Given the description of an element on the screen output the (x, y) to click on. 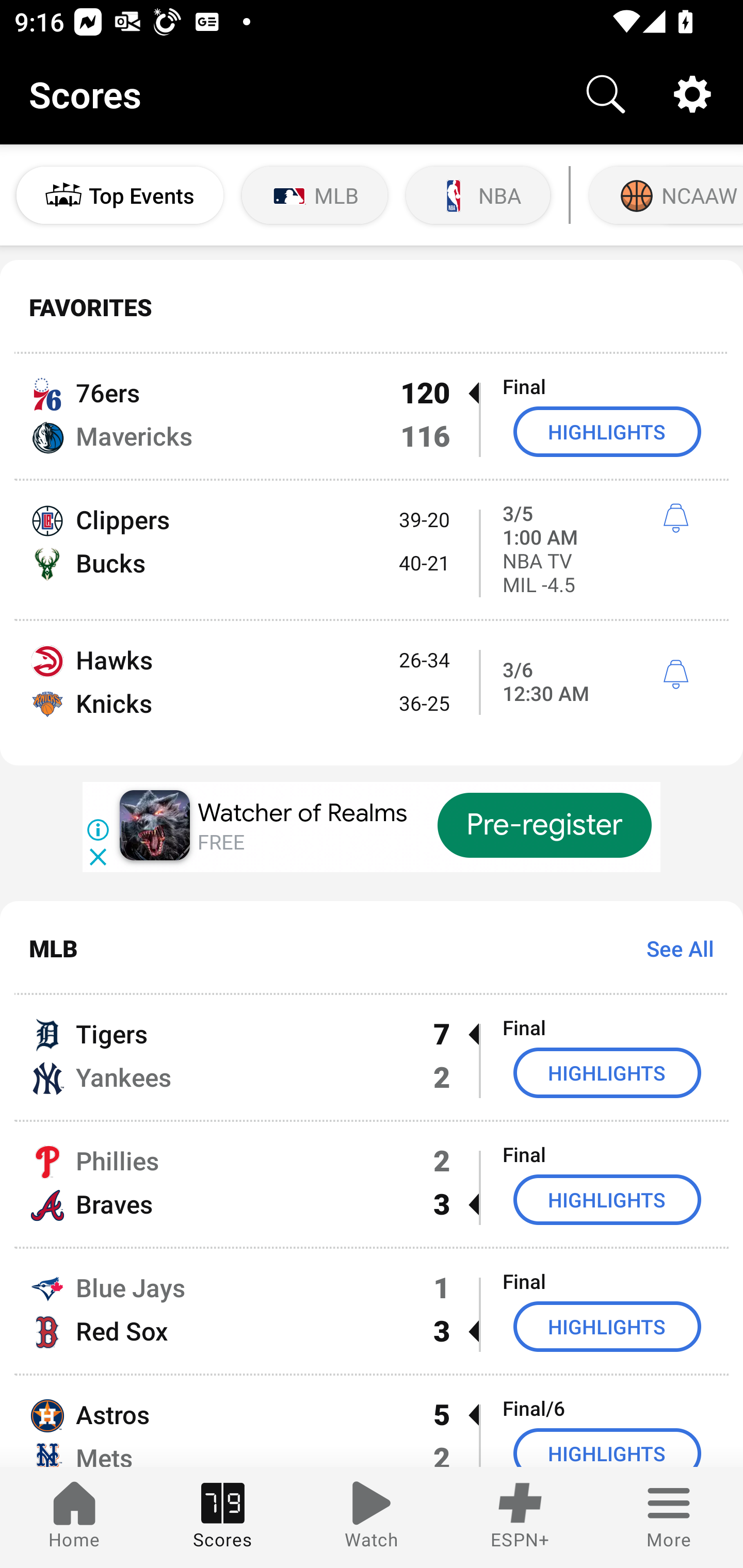
Search (605, 93)
Settings (692, 93)
 Top Events (119, 194)
MLB (314, 194)
NBA (477, 194)
NCAAW (664, 194)
FAVORITES (371, 307)
76ers 120  Final Mavericks 116 HIGHLIGHTS (371, 416)
HIGHLIGHTS (607, 431)
í (675, 517)
Hawks 26-34 Knicks 36-25 3/6 12:30 AM í (371, 692)
í (675, 674)
Pre-register (544, 825)
Watcher of Realms (302, 812)
FREE (221, 842)
MLB See All (371, 948)
See All (673, 947)
Tigers 7  Final Yankees 2 HIGHLIGHTS (371, 1057)
HIGHLIGHTS (607, 1072)
Phillies 2 Final Braves 3  HIGHLIGHTS (371, 1183)
HIGHLIGHTS (607, 1199)
Blue Jays 1 Final Red Sox 3  HIGHLIGHTS (371, 1310)
HIGHLIGHTS (607, 1326)
Astros 5  Final/6 Mets 2 HIGHLIGHTS (371, 1421)
HIGHLIGHTS (607, 1447)
Home (74, 1517)
Watch (371, 1517)
ESPN+ (519, 1517)
More (668, 1517)
